Given the description of an element on the screen output the (x, y) to click on. 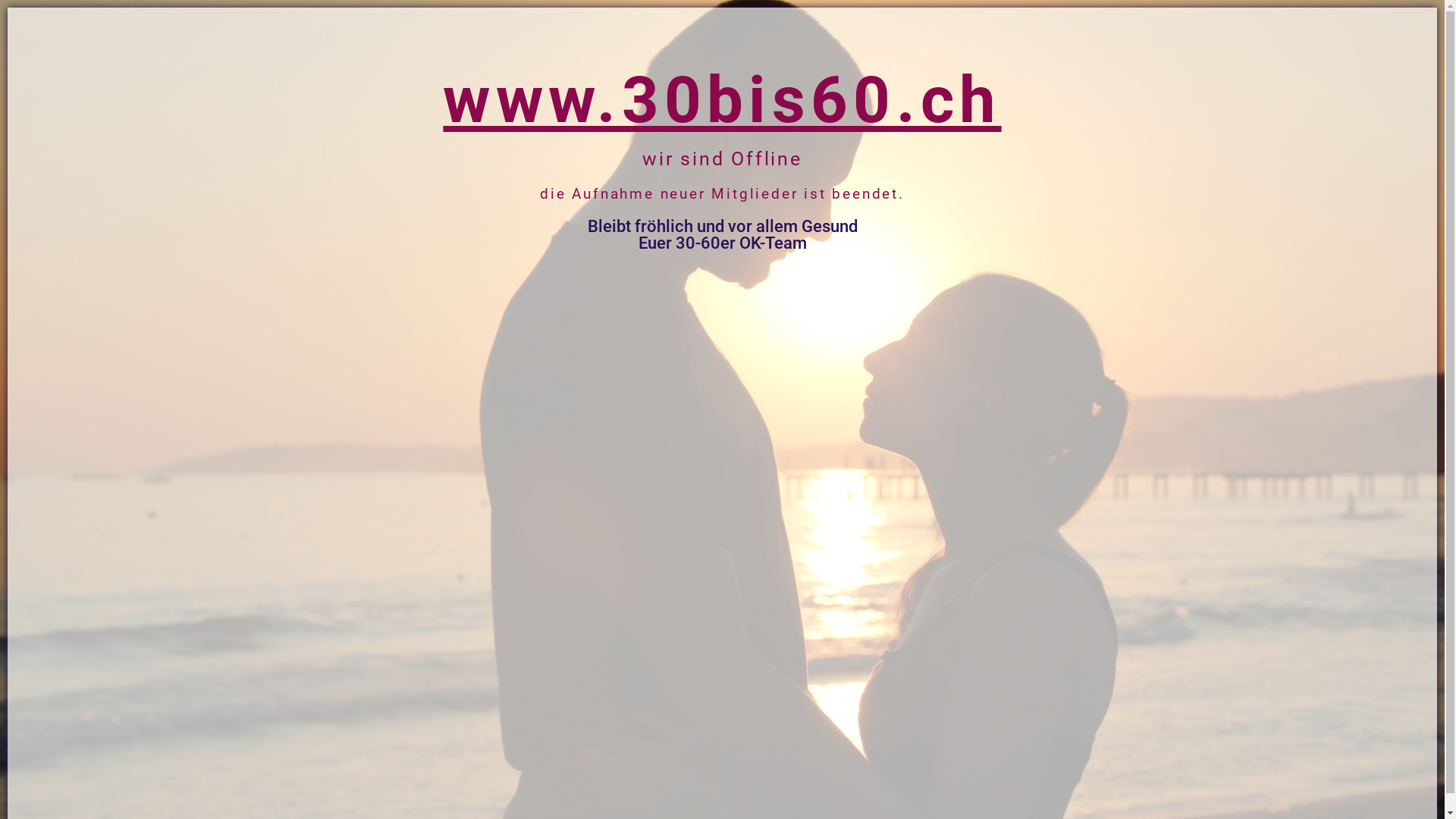
www.30bis60.ch Element type: text (721, 100)
